Given the description of an element on the screen output the (x, y) to click on. 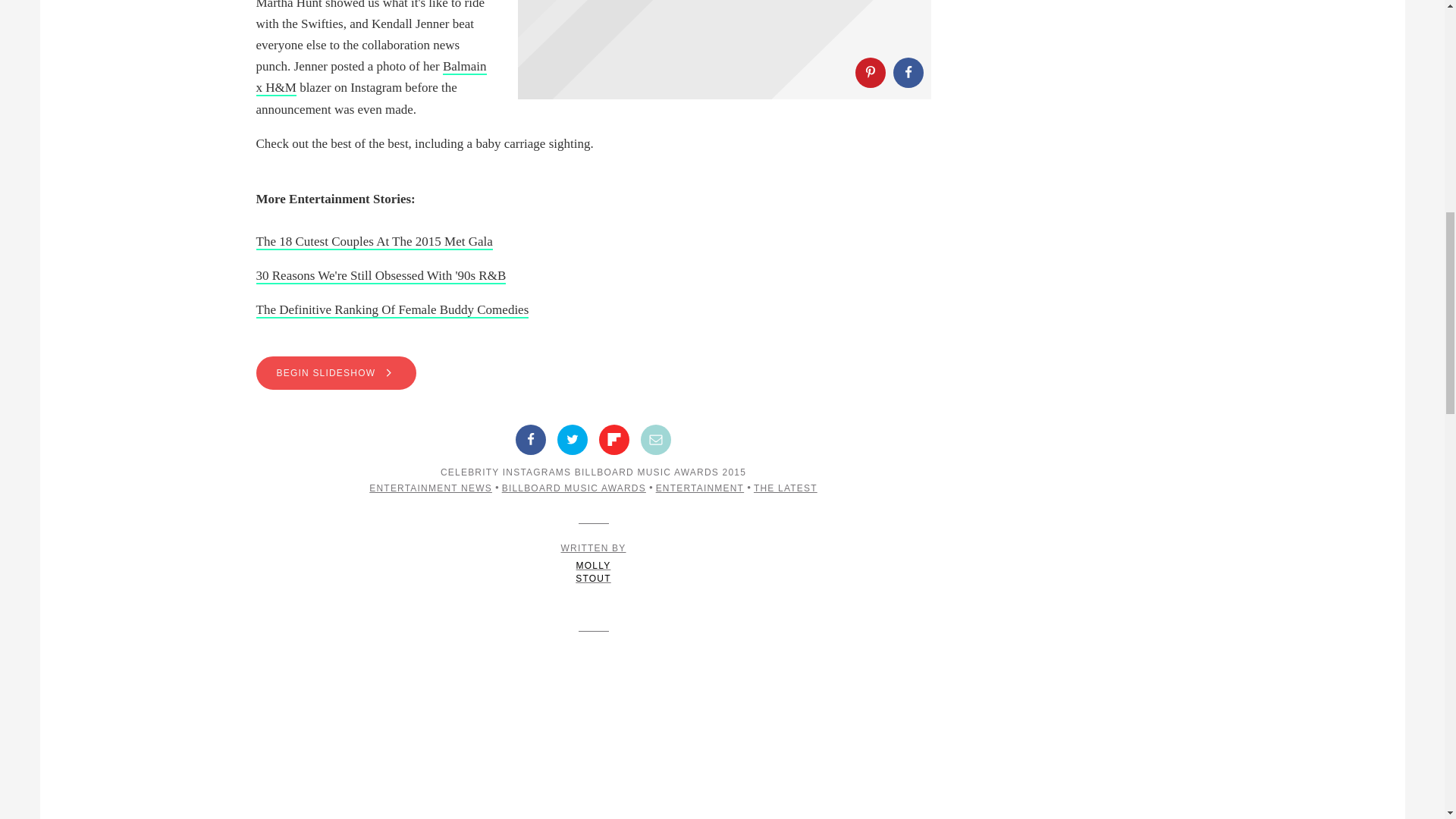
The 18 Cutest Couples At The 2015 Met Gala (374, 242)
BEGIN SLIDESHOW (336, 372)
ENTERTAINMENT NEWS (430, 488)
BILLBOARD MUSIC AWARDS (574, 488)
ENTERTAINMENT (700, 488)
Share on Pinterest (870, 72)
The Definitive Ranking Of Female Buddy Comedies (392, 310)
Share by Email (655, 440)
Share on Flipboard (613, 440)
BEGIN SLIDESHOW (593, 372)
